Given the description of an element on the screen output the (x, y) to click on. 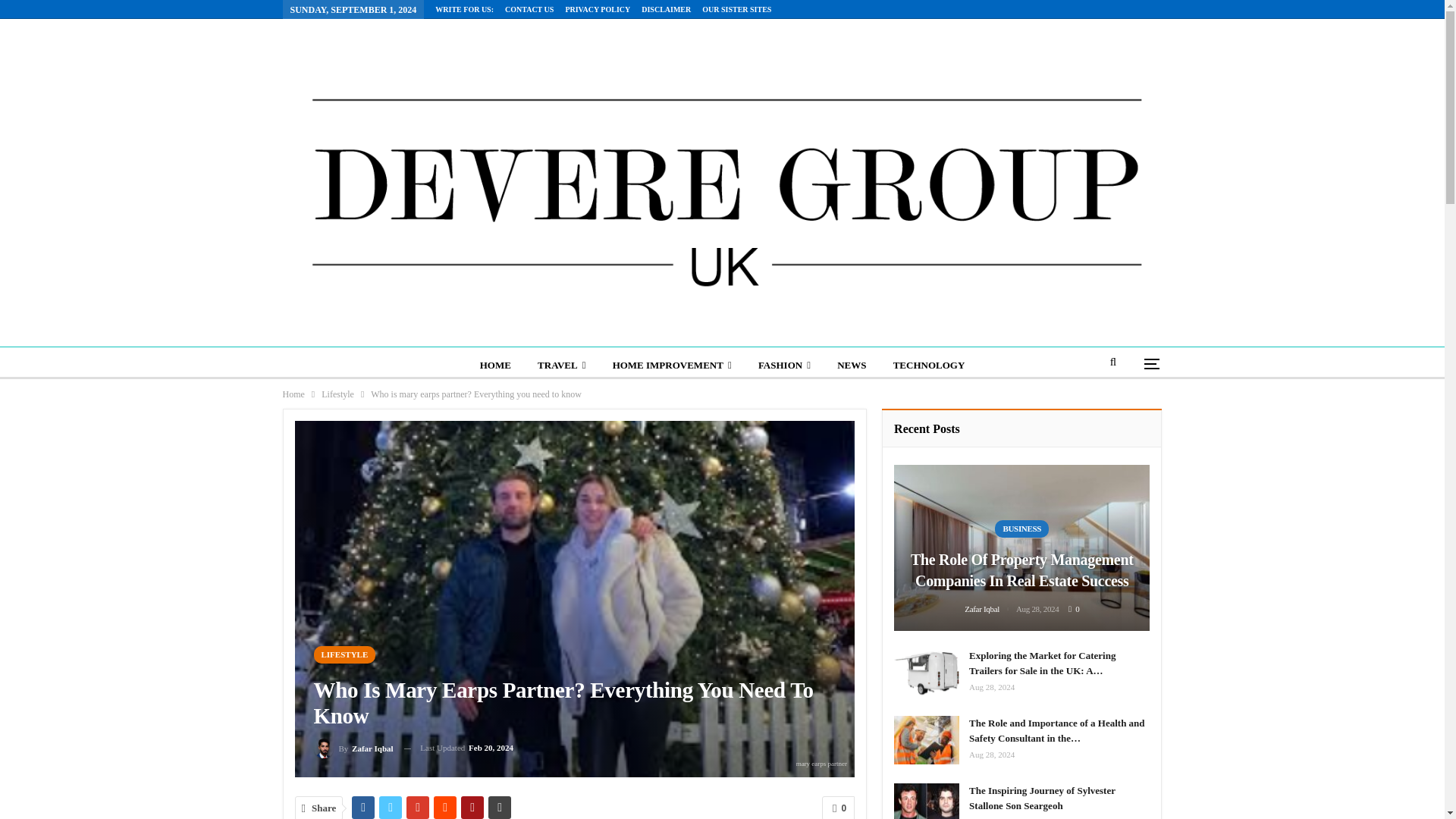
DISCLAIMER (666, 8)
OUR SISTER SITES (736, 8)
WRITE FOR US: (464, 8)
PRIVACY POLICY (597, 8)
Browse Author Articles (353, 747)
HOME IMPROVEMENT (672, 365)
CONTACT US (529, 8)
FASHION (784, 365)
TRAVEL (561, 365)
